Given the description of an element on the screen output the (x, y) to click on. 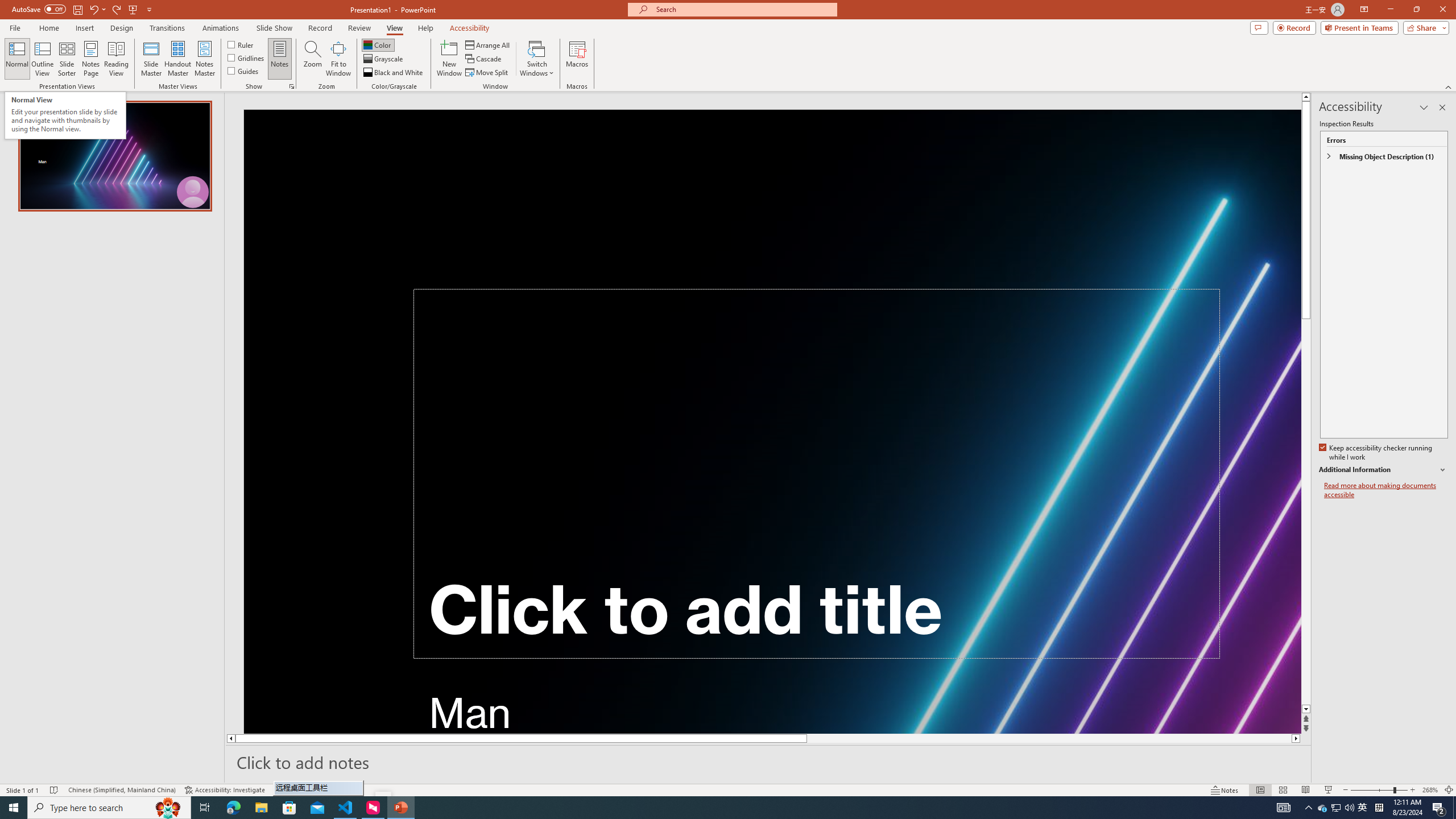
Notes Page (90, 58)
Ruler (241, 44)
